Given the description of an element on the screen output the (x, y) to click on. 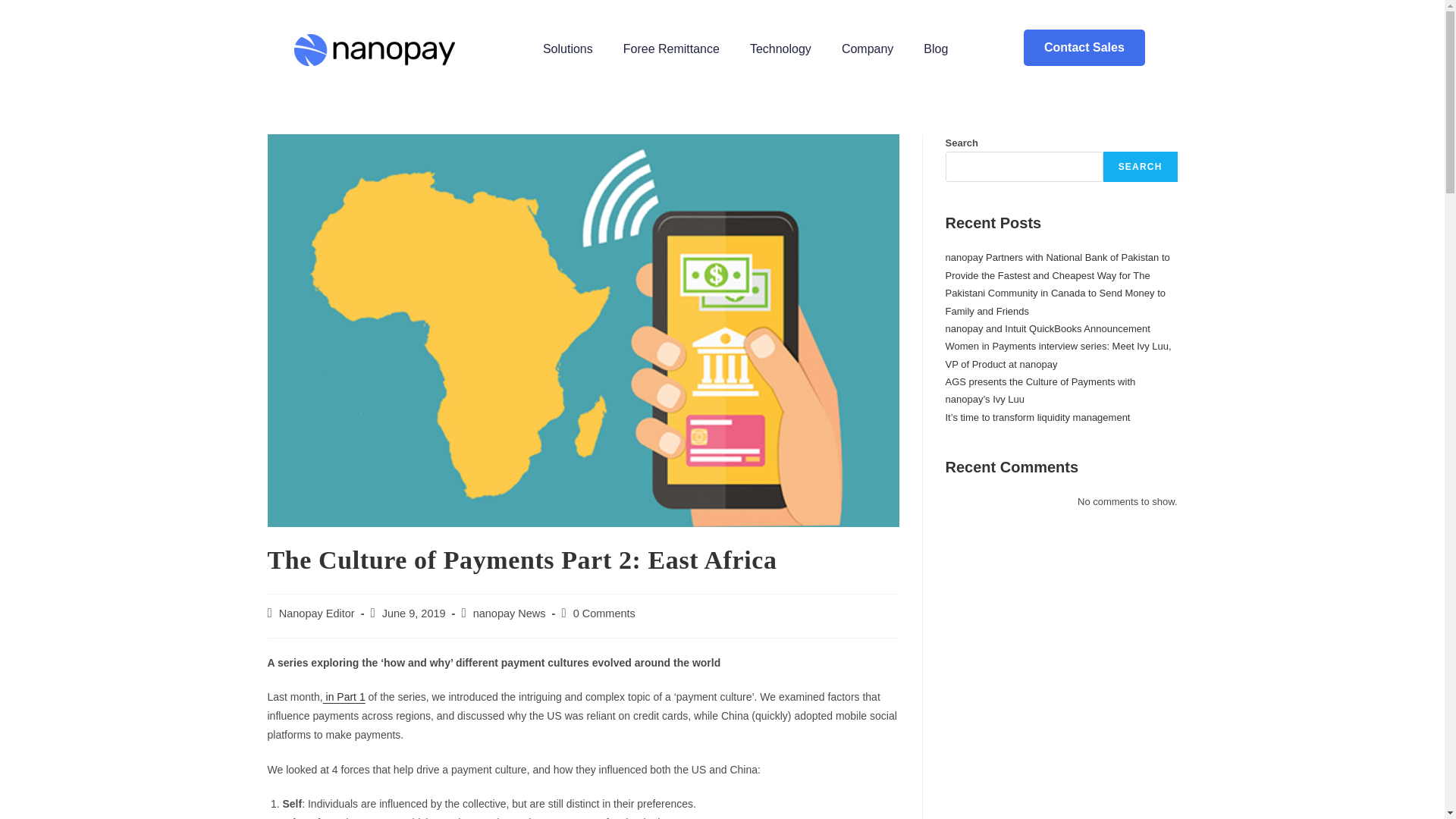
nanopay Classic Logo (374, 50)
Solutions (567, 48)
Technology (781, 48)
Foree Remittance (671, 48)
Blog (935, 48)
Company (867, 48)
Contact Sales (1083, 47)
Posts by Nanopay Editor (317, 613)
